Given the description of an element on the screen output the (x, y) to click on. 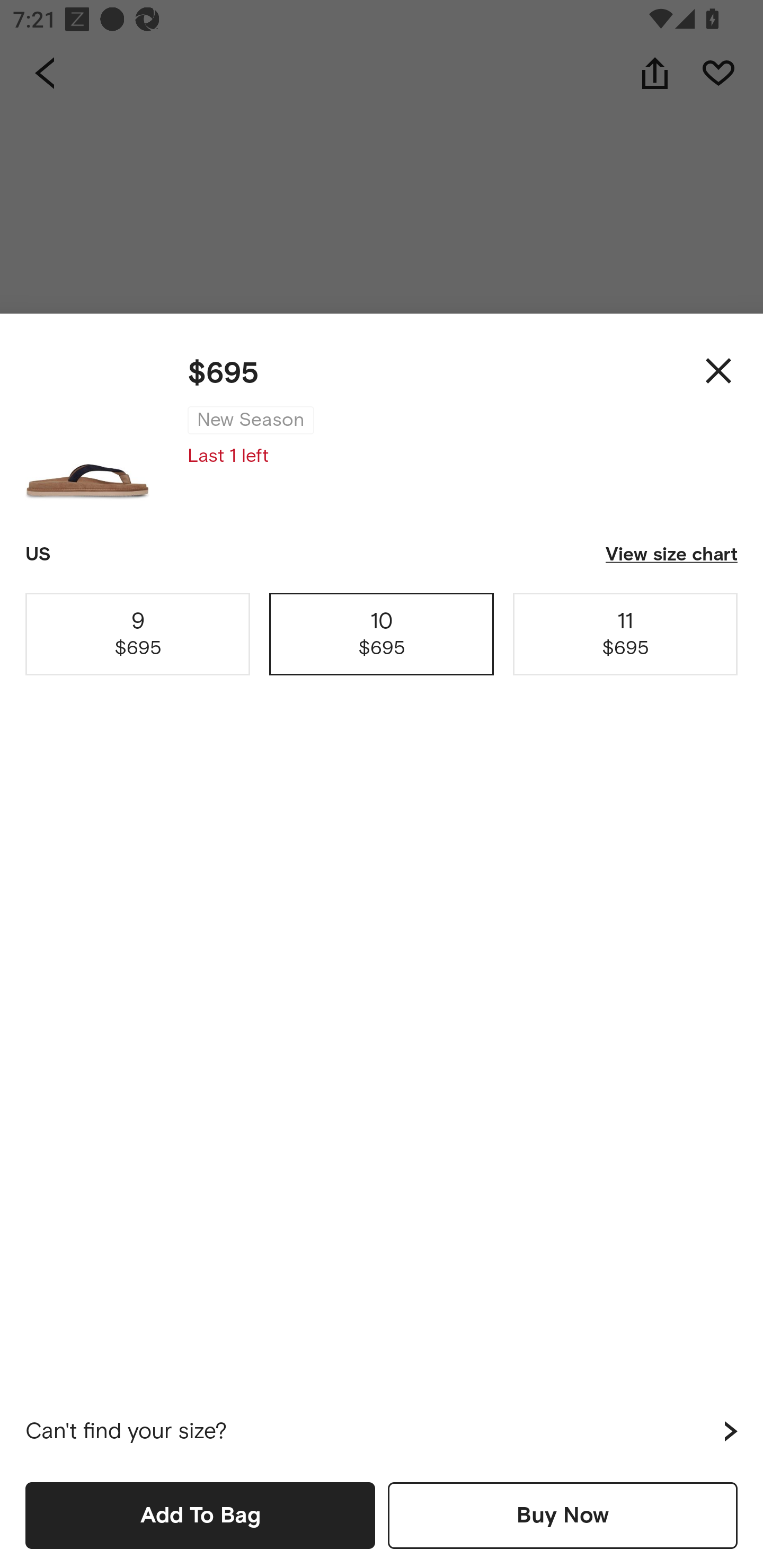
9 $695 (137, 633)
10 $695 (381, 633)
11 $695 (624, 633)
Can't find your size? (381, 1431)
Add To Bag (200, 1515)
Buy Now (562, 1515)
